Given the description of an element on the screen output the (x, y) to click on. 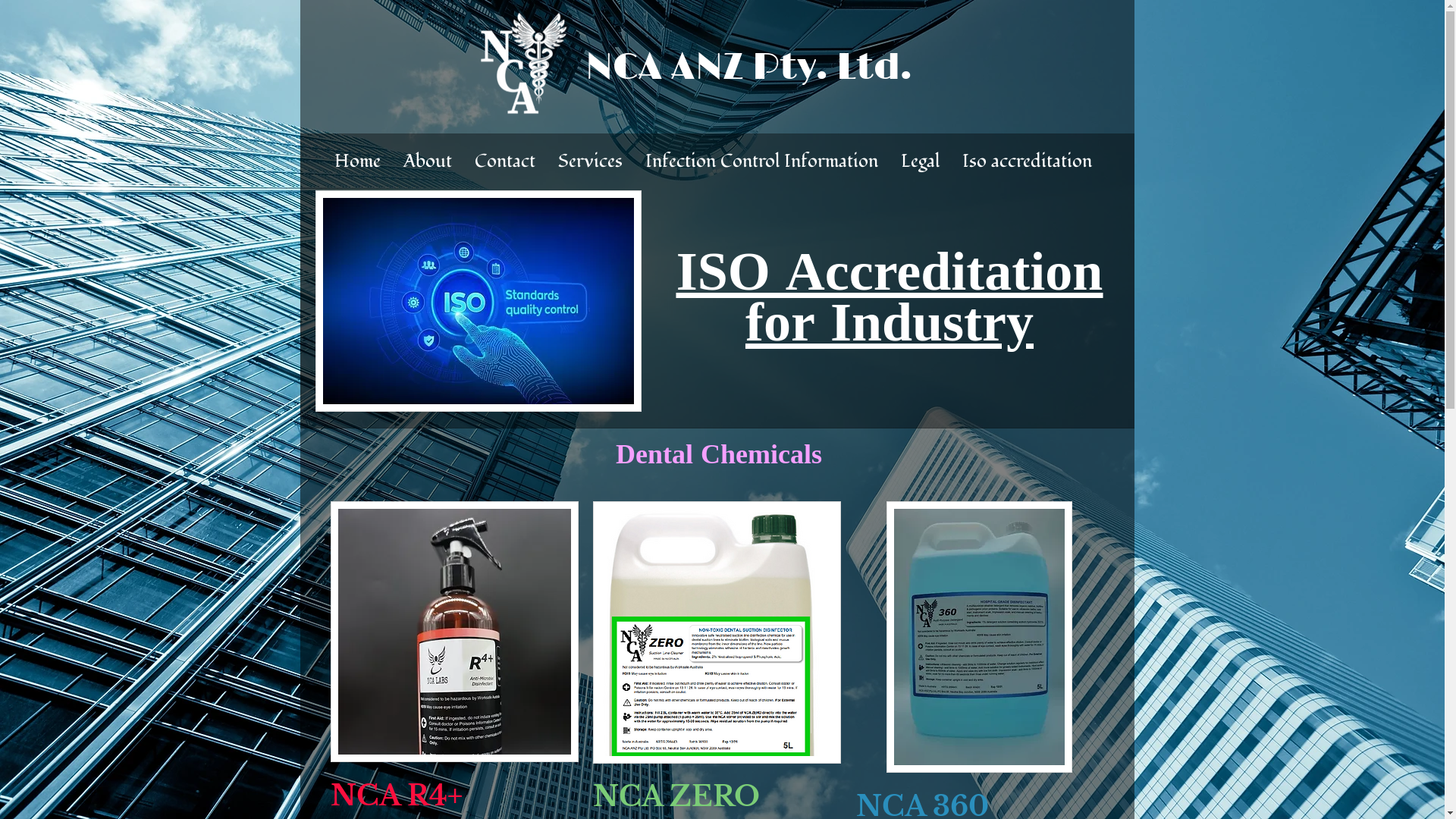
Services Element type: text (589, 161)
Contact Element type: text (504, 161)
Iso accreditation Element type: text (1026, 161)
Home Element type: text (357, 161)
Legal Element type: text (919, 161)
for Industry Element type: text (889, 321)
Infection Control Information Element type: text (761, 161)
About Element type: text (427, 161)
ISO Accreditation Element type: text (889, 270)
